Given the description of an element on the screen output the (x, y) to click on. 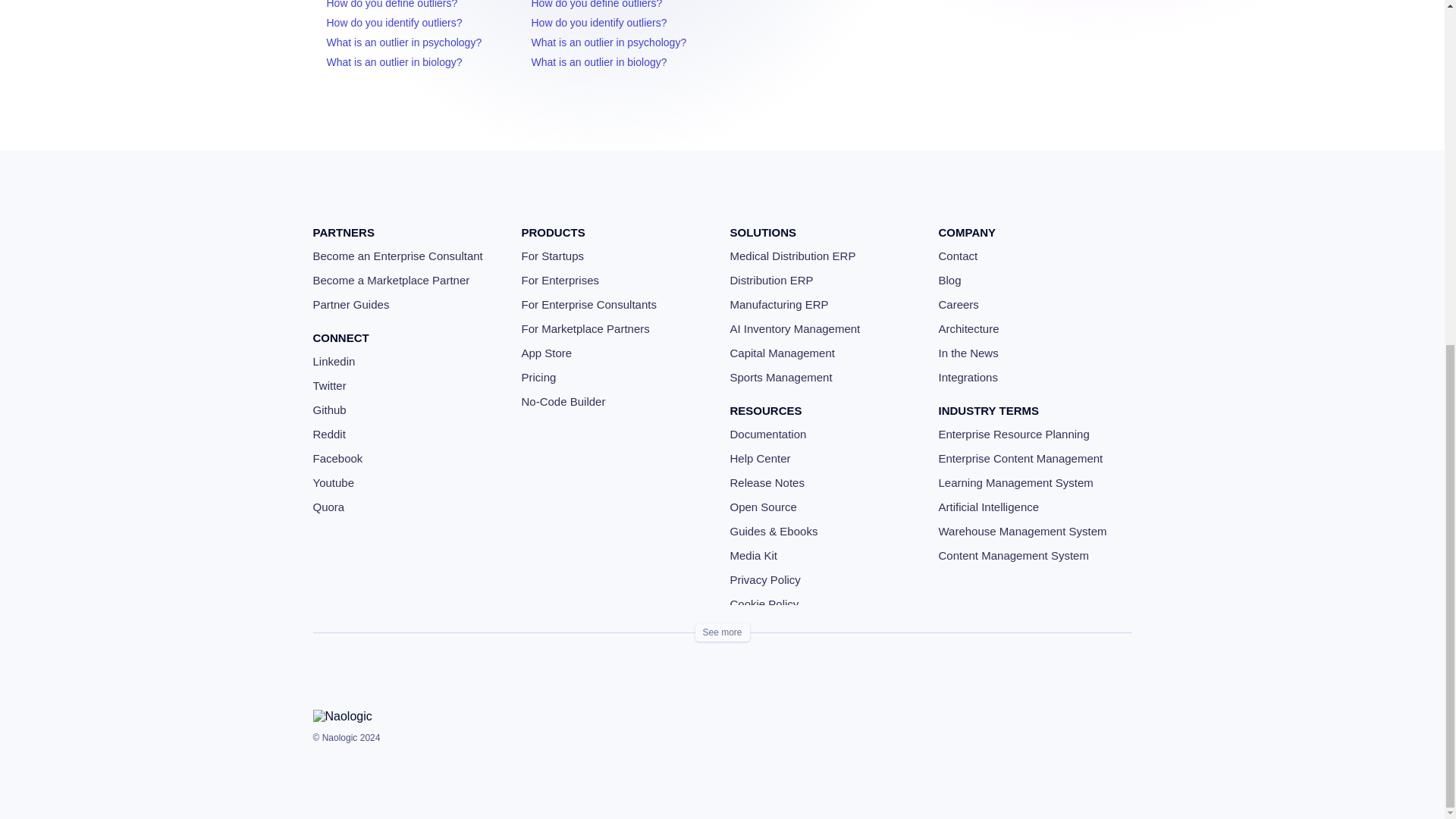
How do you define outliers? (391, 4)
